Given the description of an element on the screen output the (x, y) to click on. 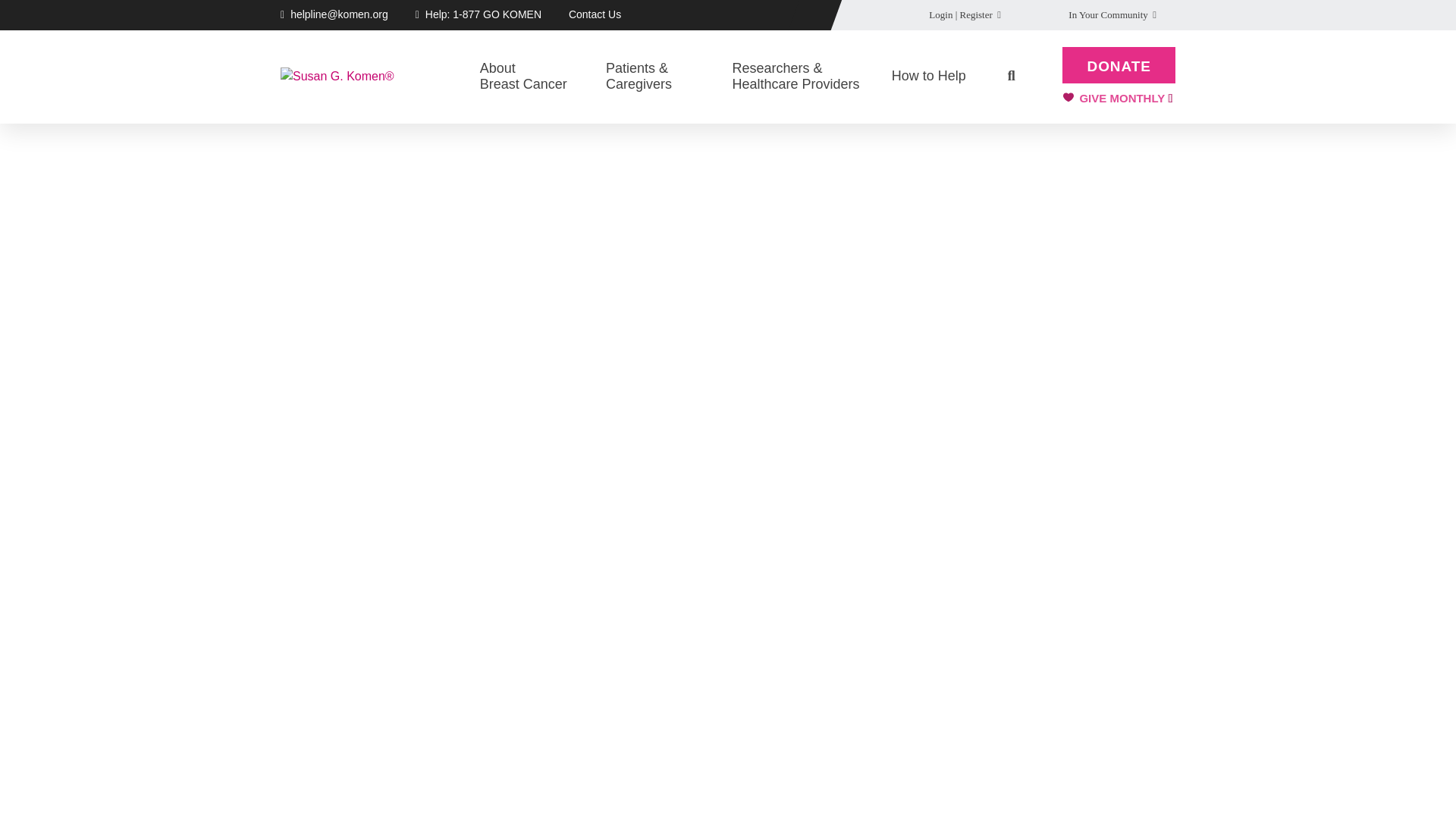
Help: 1-877 GO KOMEN (533, 76)
Contact Us (483, 14)
